Given the description of an element on the screen output the (x, y) to click on. 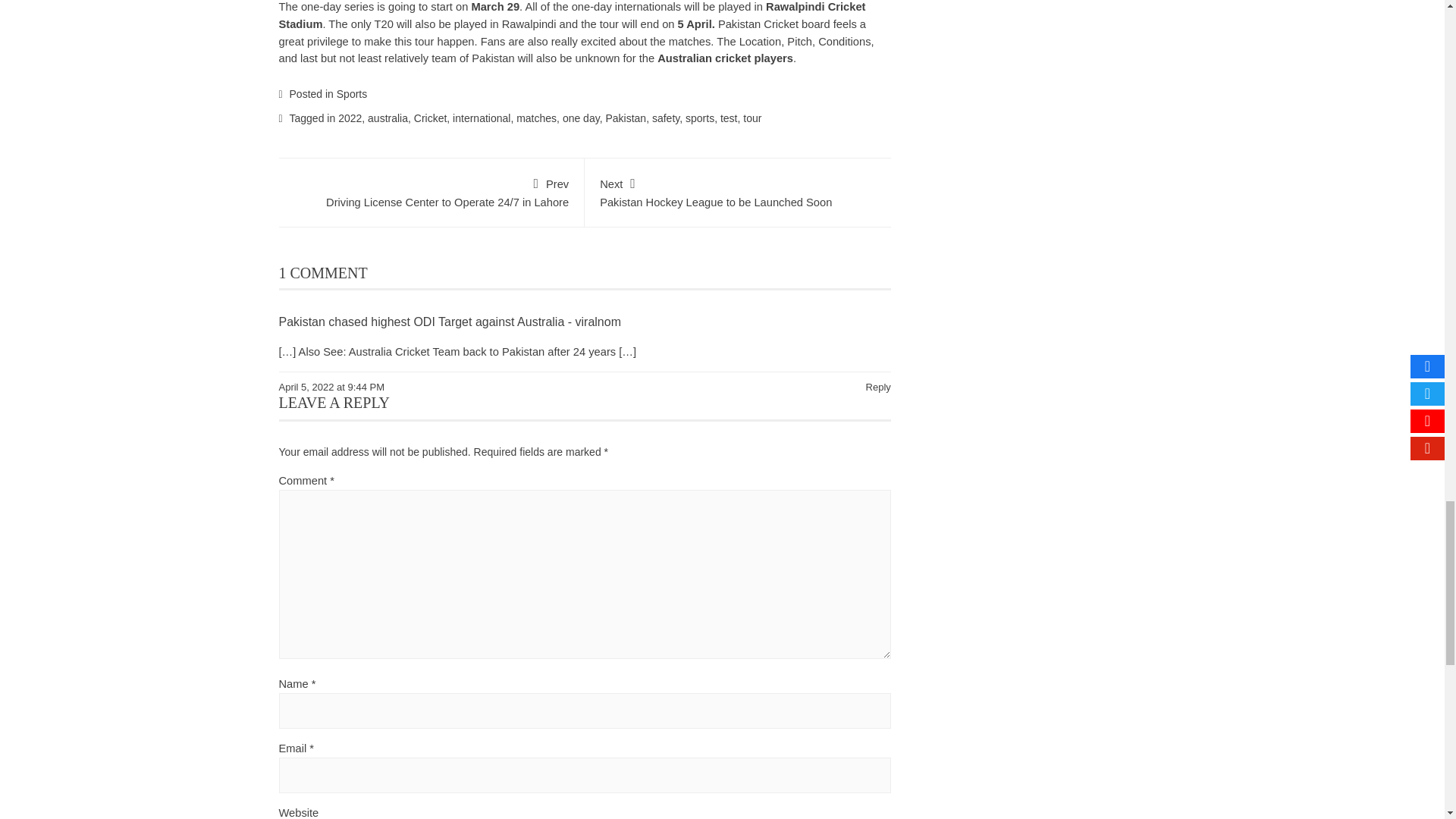
Sports (351, 93)
australia (387, 118)
2022 (349, 118)
international (481, 118)
Cricket (429, 118)
Pakistan (625, 118)
one day (580, 118)
matches (536, 118)
safety (665, 118)
